Given the description of an element on the screen output the (x, y) to click on. 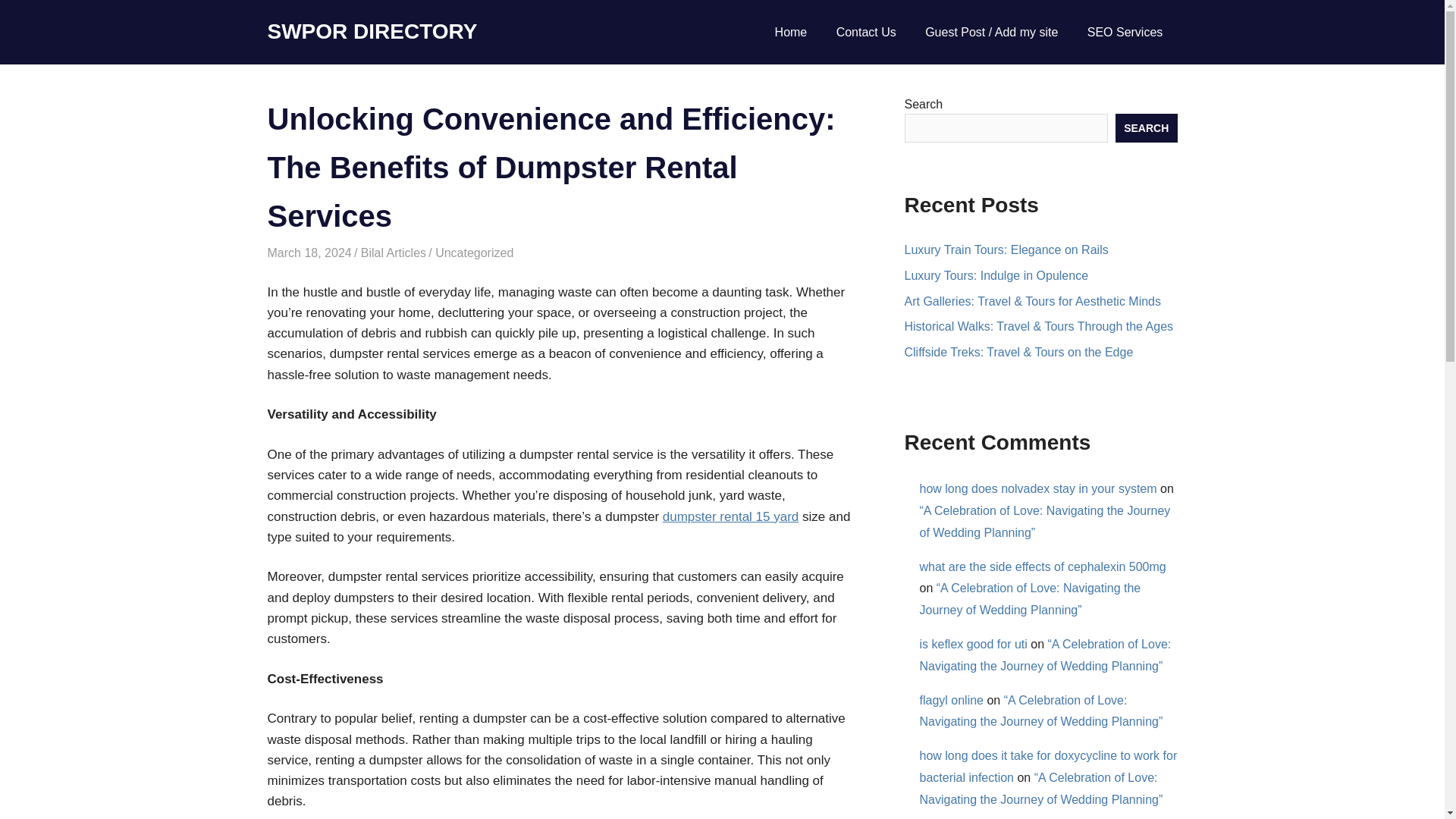
Luxury Tours: Indulge in Opulence (995, 275)
March 18, 2024 (308, 252)
dumpster rental 15 yard (730, 516)
View all posts by Bilal Articles (393, 252)
Bilal Articles (393, 252)
Contact Us (866, 32)
what are the side effects of cephalexin 500mg (1042, 566)
how long does nolvadex stay in your system (1037, 488)
SEO Services (1125, 32)
flagyl online (951, 699)
Home (790, 32)
Uncategorized (474, 252)
7:31 am (308, 252)
SEARCH (1146, 127)
